Given the description of an element on the screen output the (x, y) to click on. 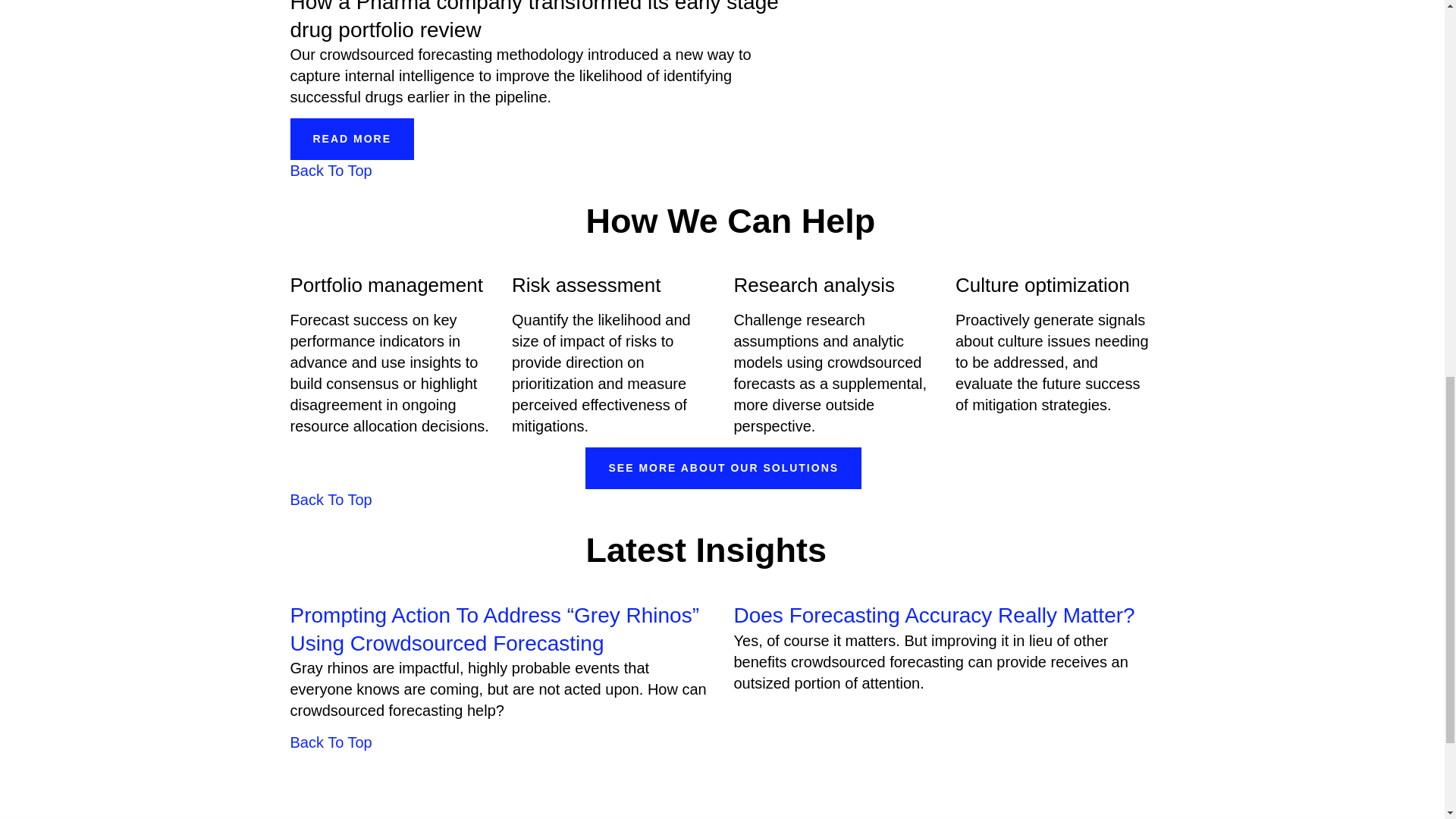
Back To Top (330, 499)
translation missing: en.Back to Top (330, 170)
translation missing: en.Back to Top (330, 742)
Back To Top (330, 742)
translation missing: en.Read More (352, 138)
Back To Top (330, 170)
SEE MORE ABOUT OUR SOLUTIONS (723, 467)
translation missing: en.See more about our solutions (723, 467)
translation missing: en.Back to Top (330, 499)
Does Forecasting Accuracy Really Matter? (934, 615)
READ MORE (351, 138)
